Given the description of an element on the screen output the (x, y) to click on. 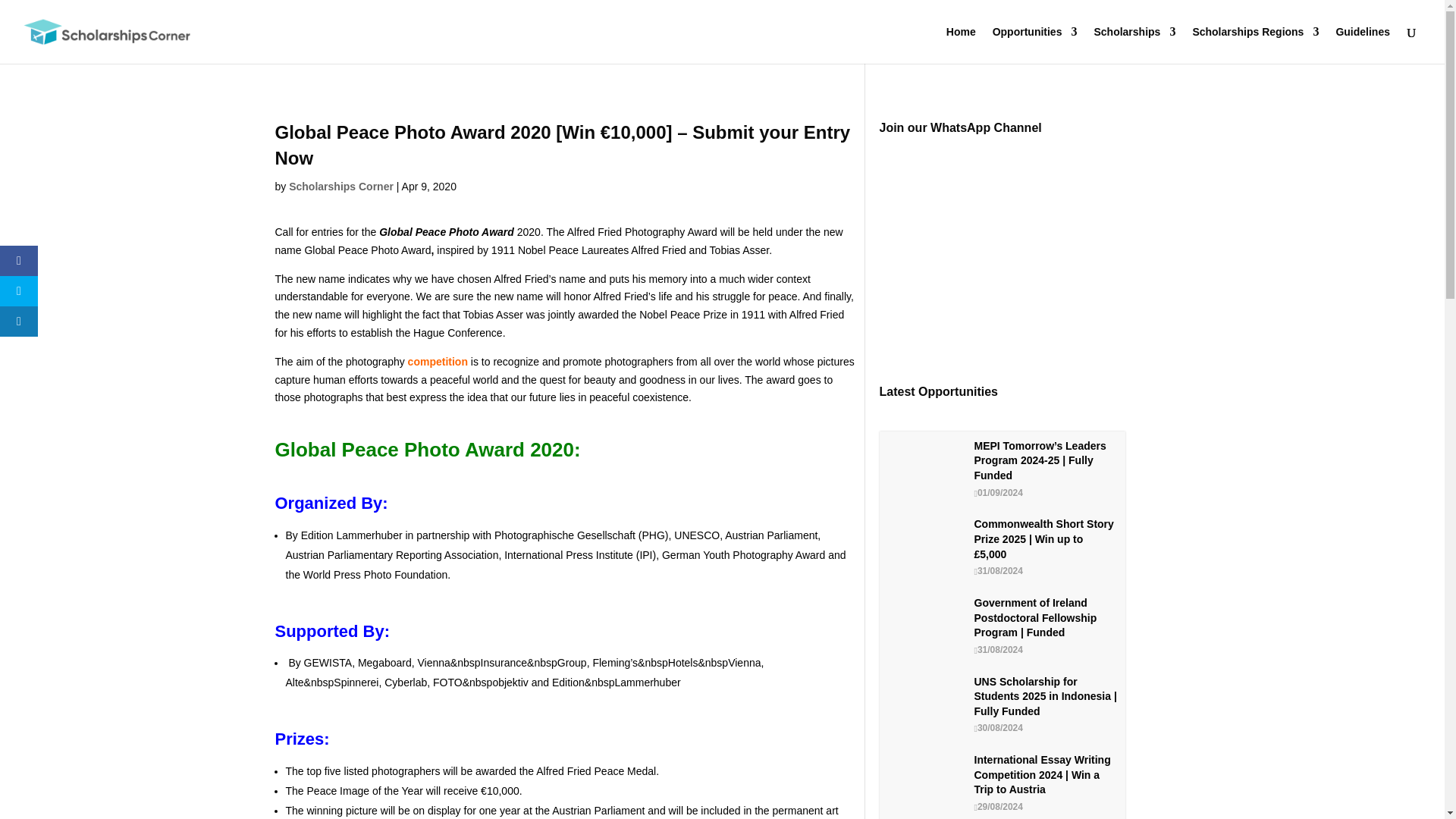
Scholarships Corner (340, 186)
Posts by Scholarships Corner (340, 186)
Guidelines (1362, 44)
Opportunities (1034, 44)
Scholarships (1133, 44)
Scholarships Regions (1255, 44)
